Given the description of an element on the screen output the (x, y) to click on. 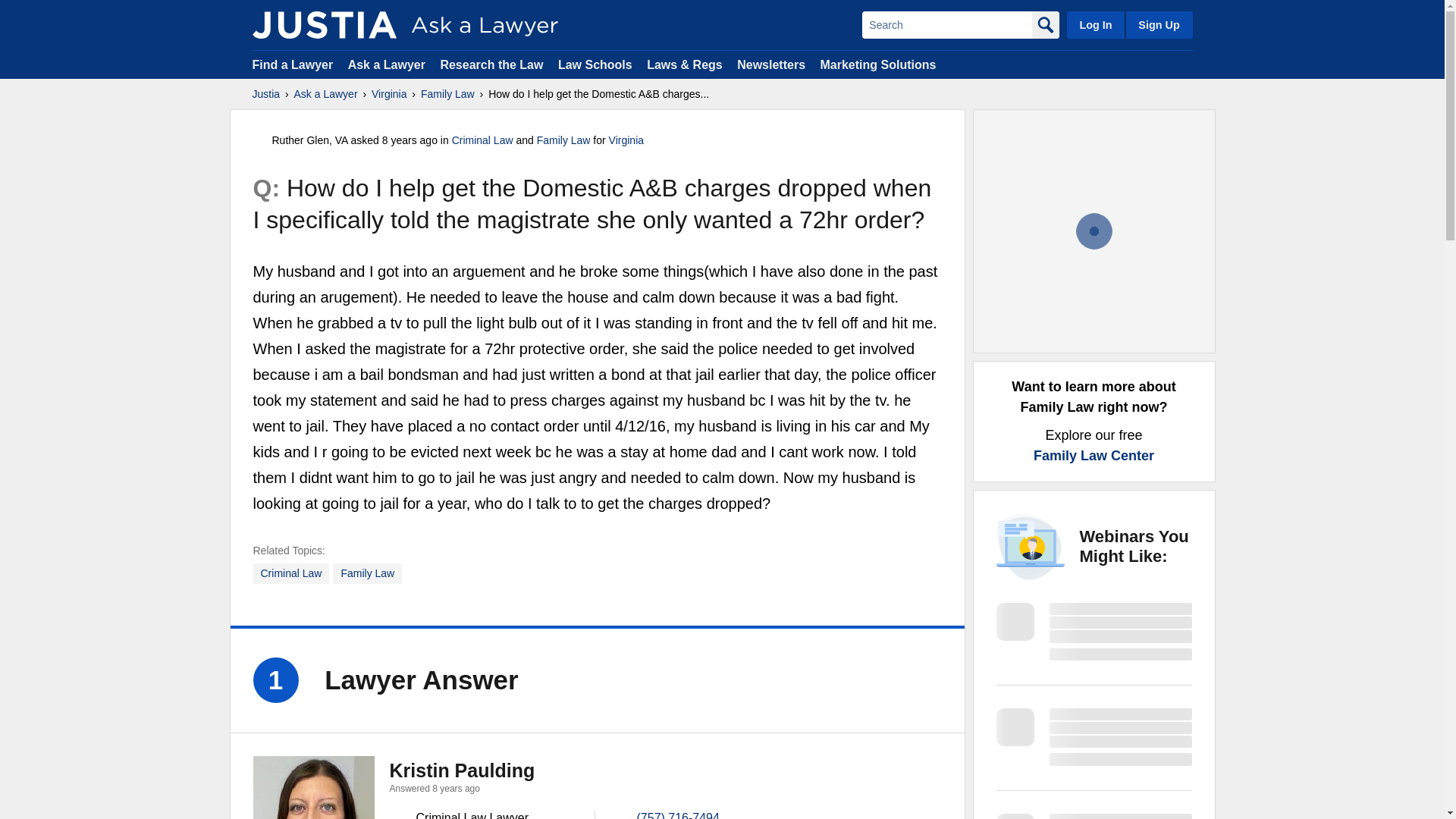
Ask a Lawyer (388, 64)
Research the Law (491, 64)
Virginia (625, 140)
Criminal Law (291, 573)
Kristin Paulding (313, 787)
Justia (323, 24)
Ask a Lawyer (326, 93)
Justia (265, 93)
Family Law (447, 93)
Log In (1094, 24)
Marketing Solutions (877, 64)
Search (945, 24)
Criminal Law (482, 140)
Law Schools (594, 64)
Family Law (564, 140)
